Given the description of an element on the screen output the (x, y) to click on. 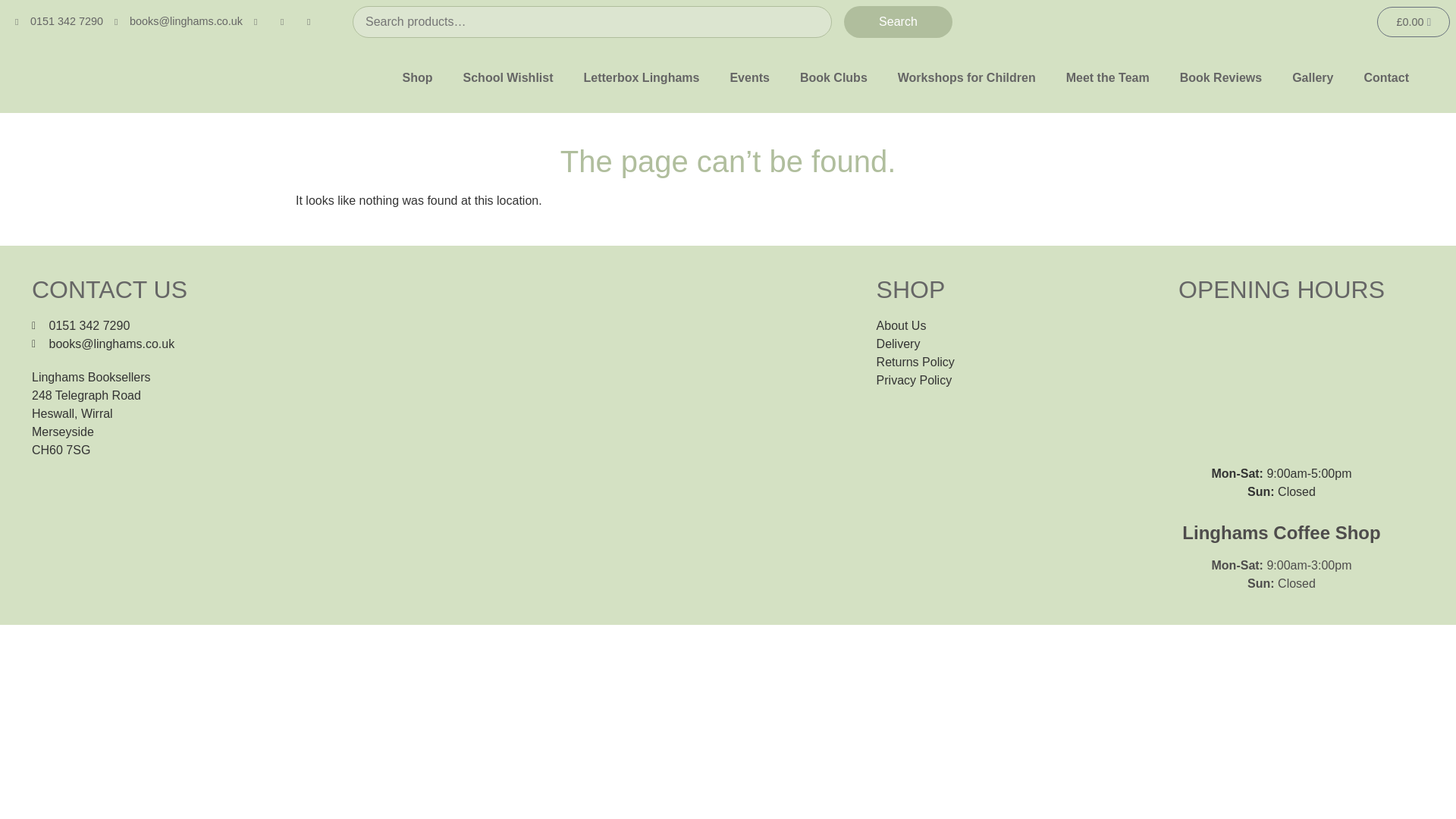
Meet the Team (1107, 77)
Delivery (1005, 343)
Privacy Policy (1005, 380)
0151 342 7290 (446, 325)
School Wishlist (508, 77)
Contact (1385, 77)
Search (898, 21)
Events (749, 77)
Returns Policy (1005, 361)
Letterbox Linghams (641, 77)
Book Clubs (833, 77)
Book Reviews (1220, 77)
Workshops for Children (966, 77)
0151 342 7290 (58, 21)
Shop (417, 77)
